Given the description of an element on the screen output the (x, y) to click on. 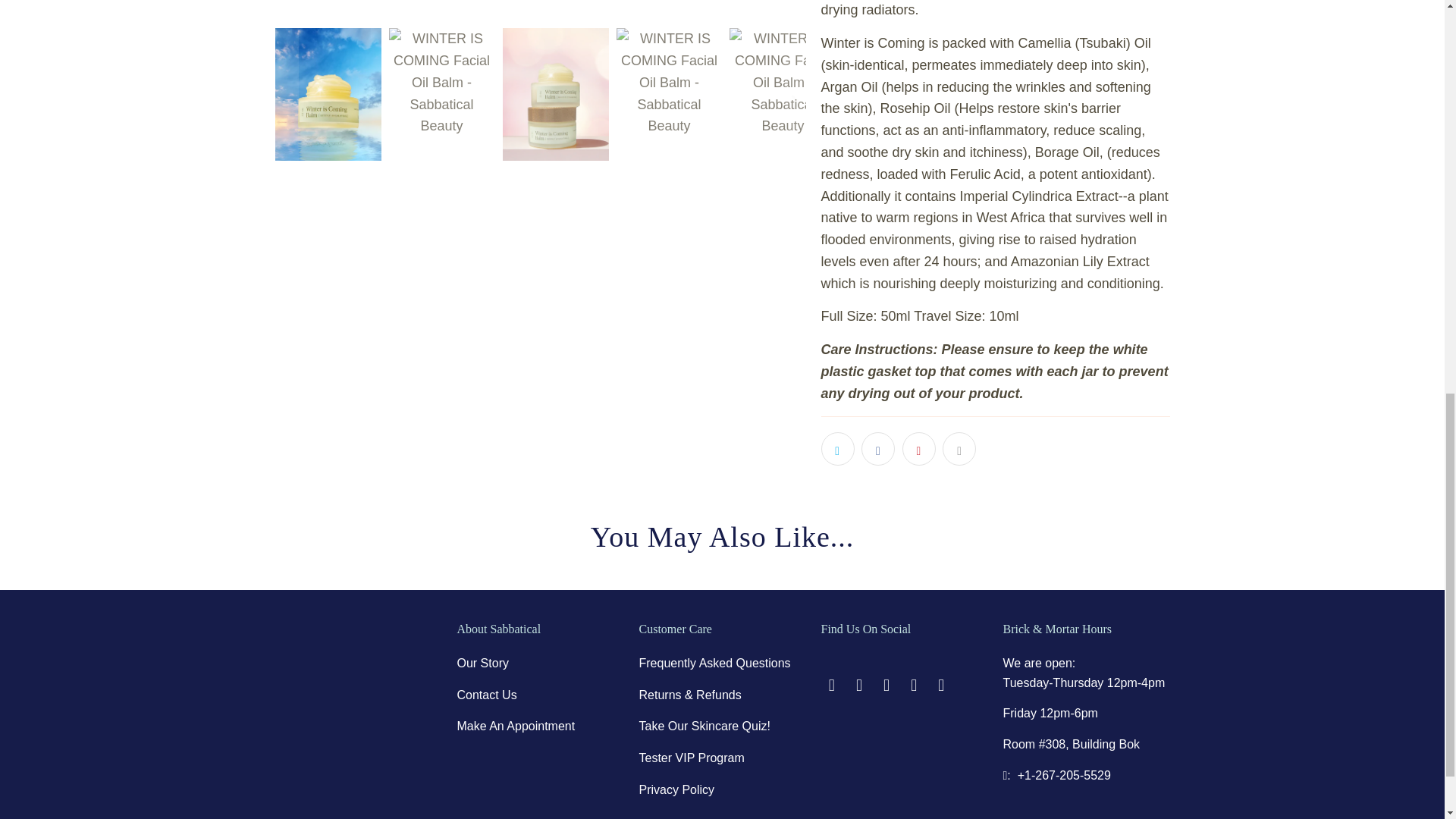
Share this on Pinterest (919, 449)
Share this on Twitter (837, 449)
Sabbatical Beauty on Pinterest (887, 685)
Email this to a friend (958, 449)
Sabbatical Beauty on YouTube (859, 685)
Sabbatical Beauty on Facebook (832, 685)
Share this on Facebook (878, 449)
